Given the description of an element on the screen output the (x, y) to click on. 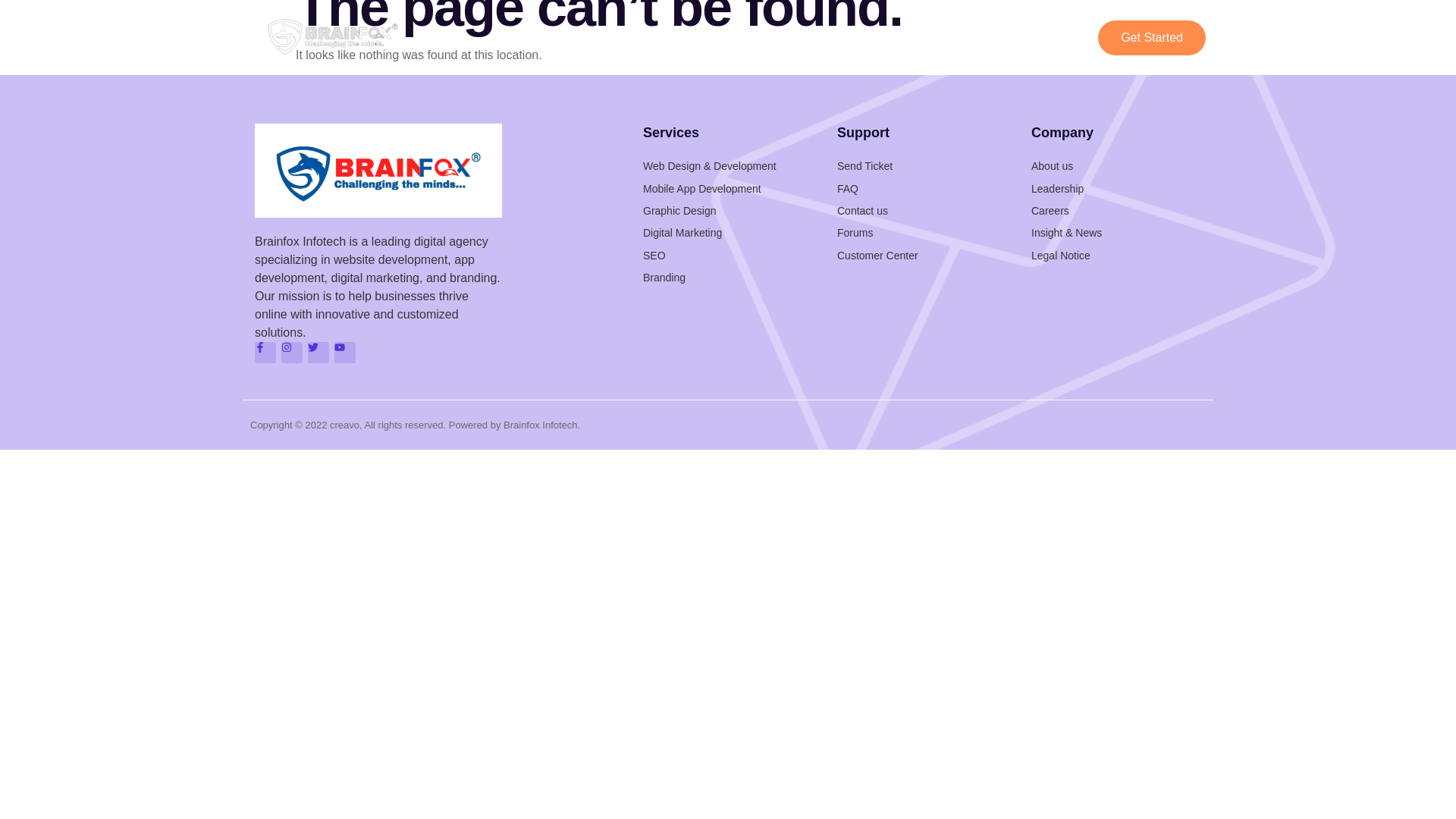
Leadership (1115, 188)
Digital Marketing (727, 232)
Mobile App Development (727, 188)
Branding (727, 277)
Portfolio (855, 37)
About Us (936, 37)
Careers (1115, 210)
Contact us (922, 210)
Get Started (1151, 37)
SEO (727, 255)
